Given the description of an element on the screen output the (x, y) to click on. 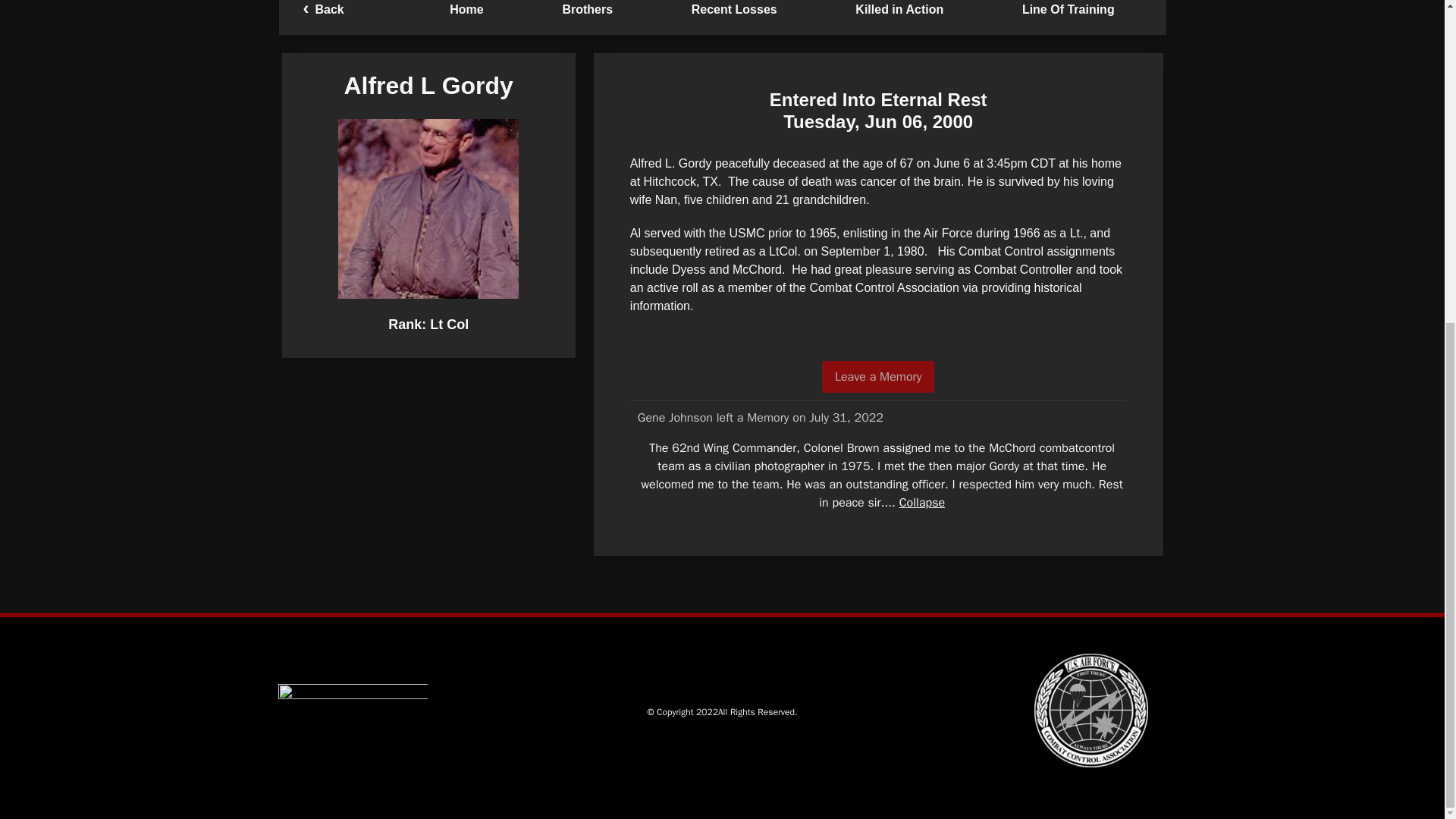
Leave a Memory (878, 377)
Collapse (921, 502)
Killed in Action (900, 11)
Home (466, 11)
Recent Losses (734, 11)
Collapse this entry again (921, 502)
Brothers (587, 11)
Line Of Training (1067, 11)
